Given the description of an element on the screen output the (x, y) to click on. 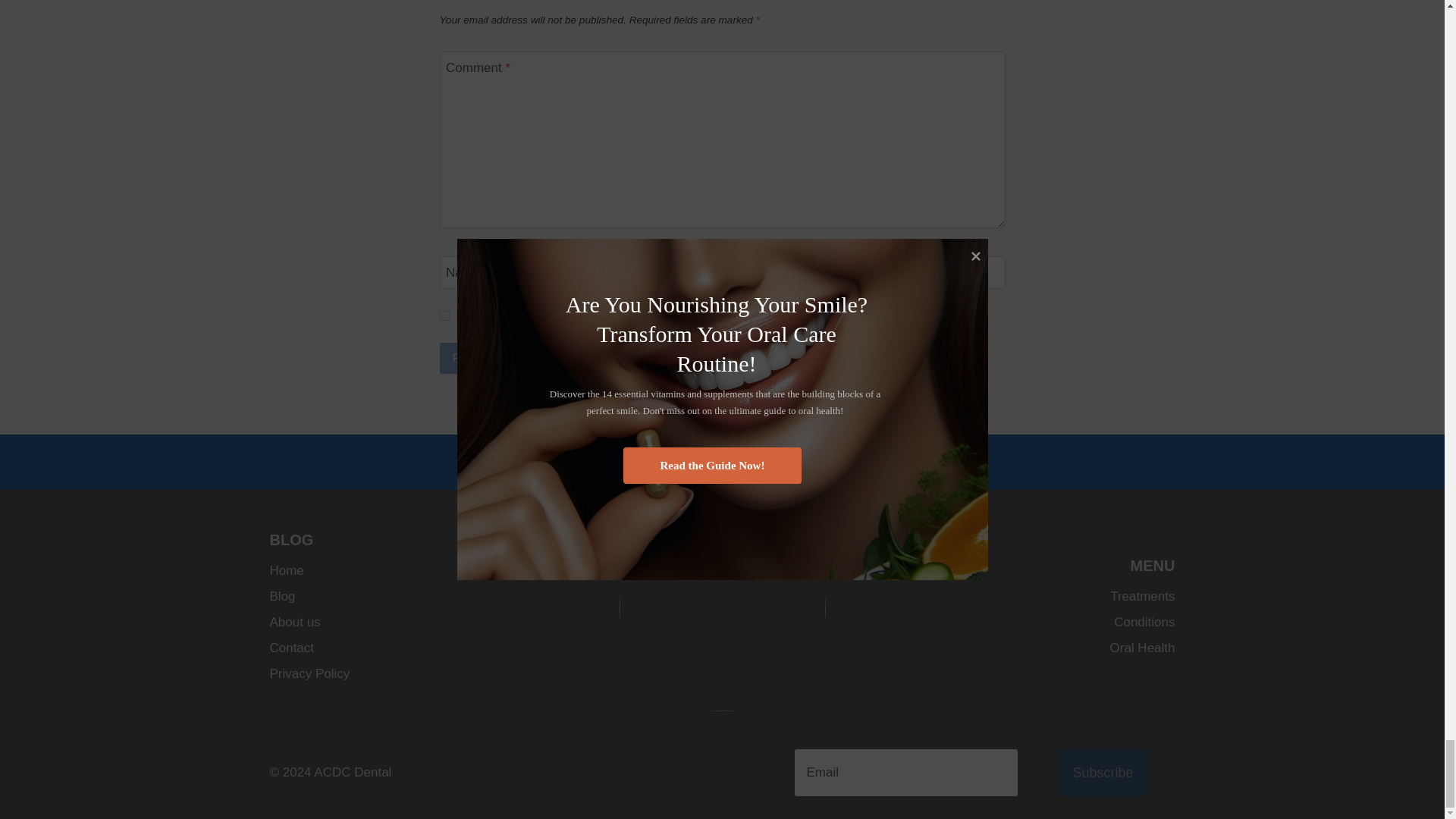
Post Comment (494, 358)
yes (444, 316)
